Given the description of an element on the screen output the (x, y) to click on. 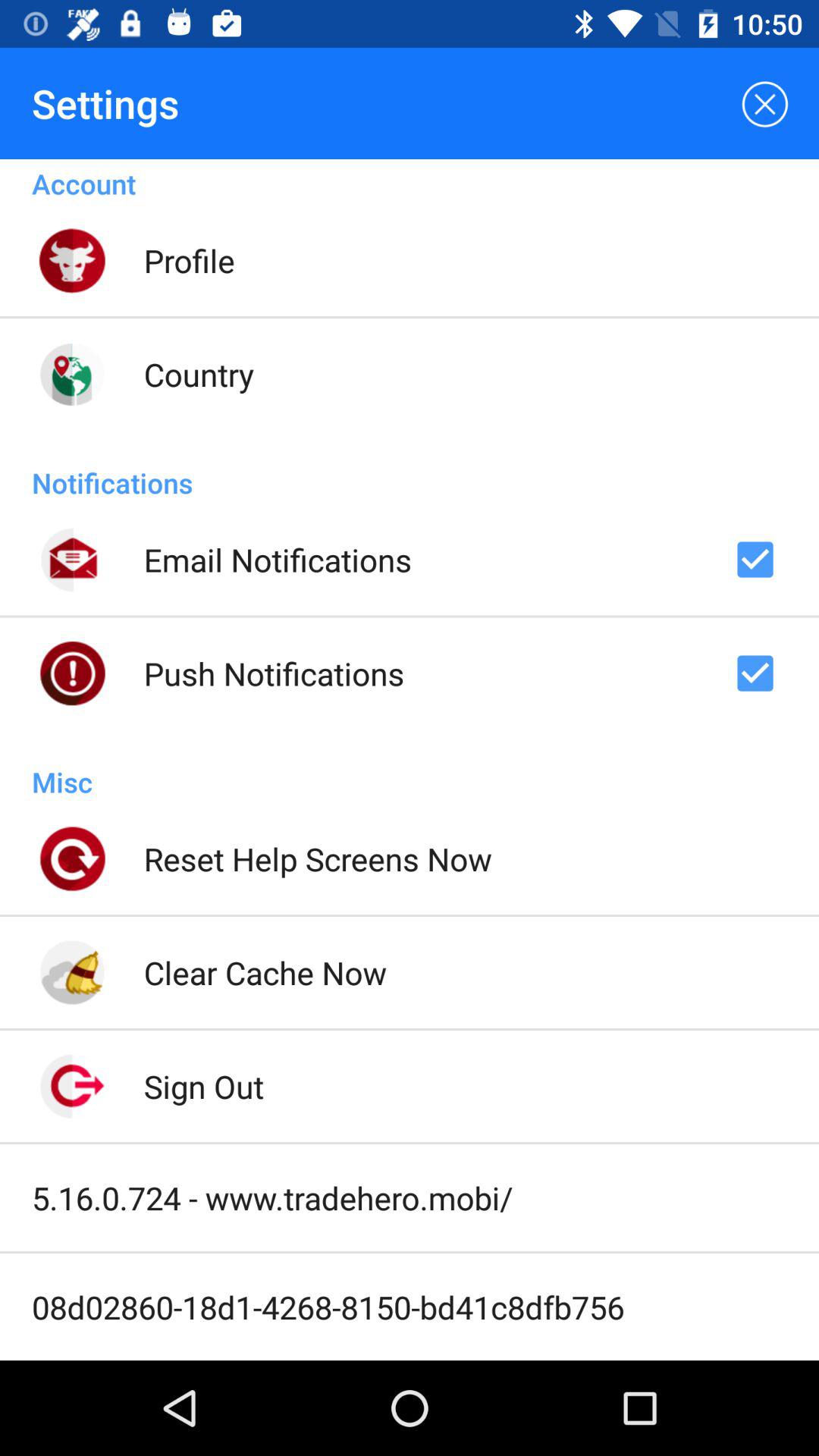
flip to 08d02860 18d1 4268 icon (327, 1306)
